Given the description of an element on the screen output the (x, y) to click on. 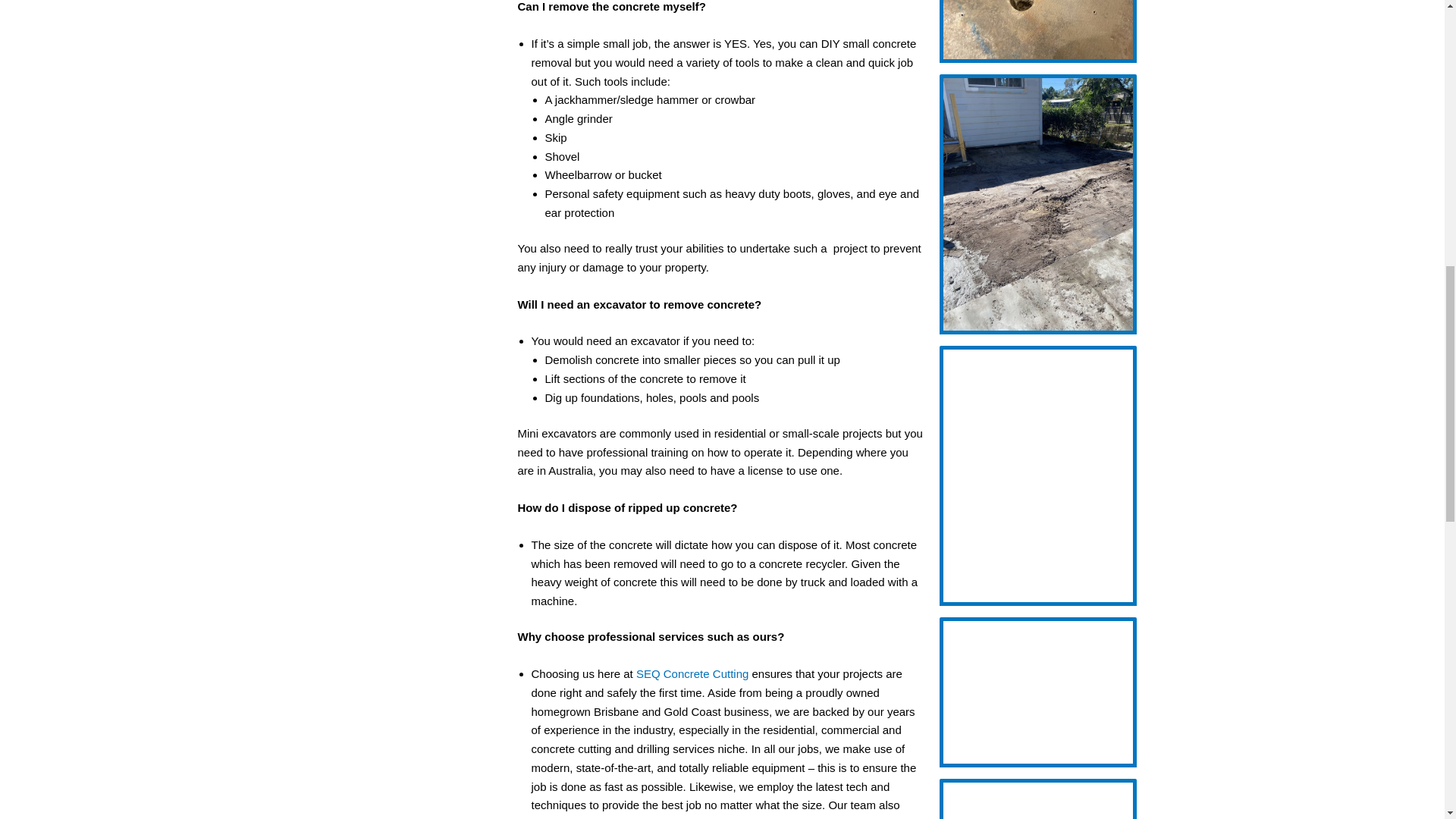
Cost to remove concrete in Brisbane and the Gold Coast (1038, 692)
Cost to remove concrete in Brisbane and the Gold Coast (1038, 798)
Cost to remove concrete in Brisbane and the Gold Coast (1038, 31)
